Given the description of an element on the screen output the (x, y) to click on. 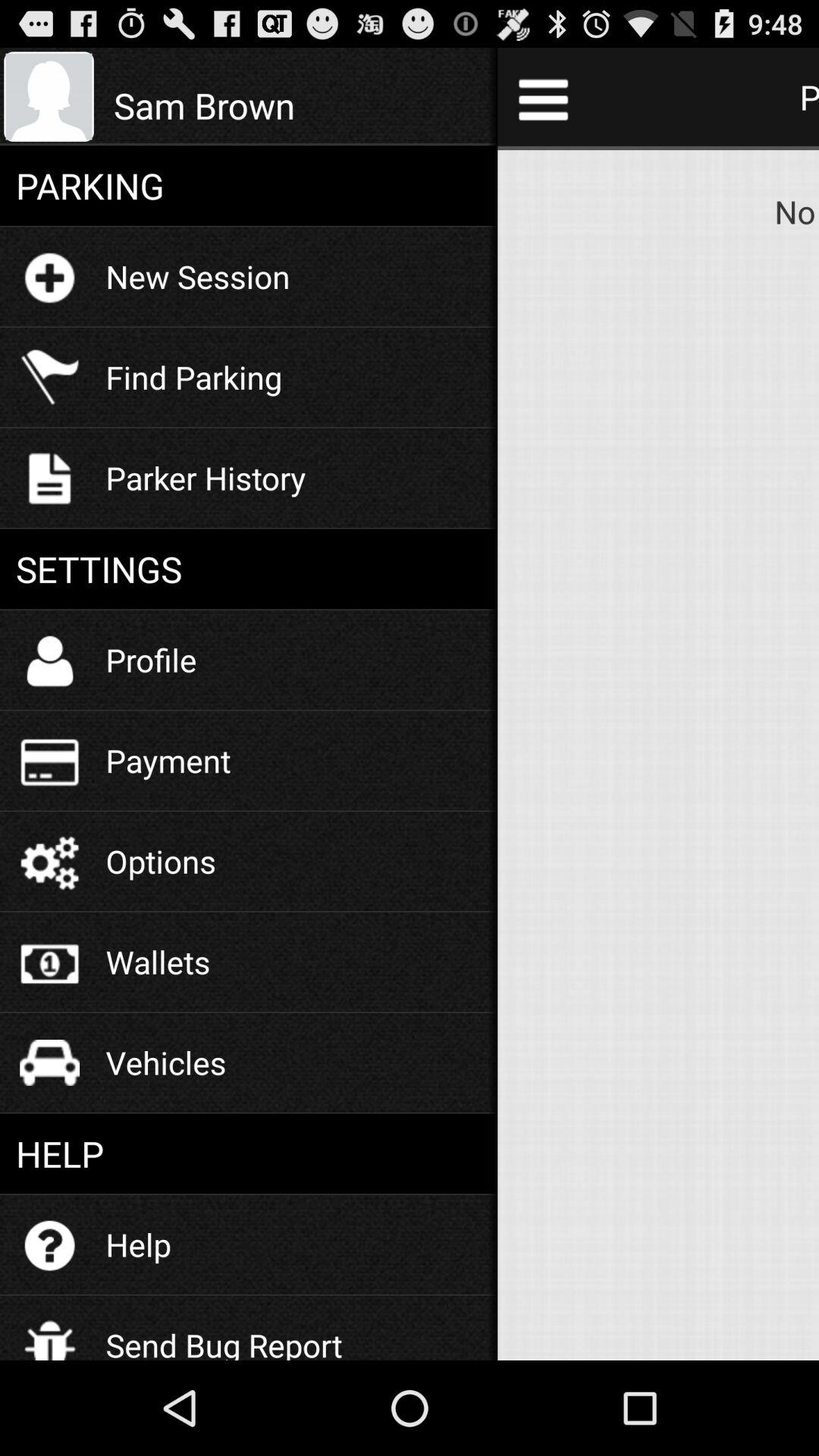
scroll until vehicles (165, 1061)
